Given the description of an element on the screen output the (x, y) to click on. 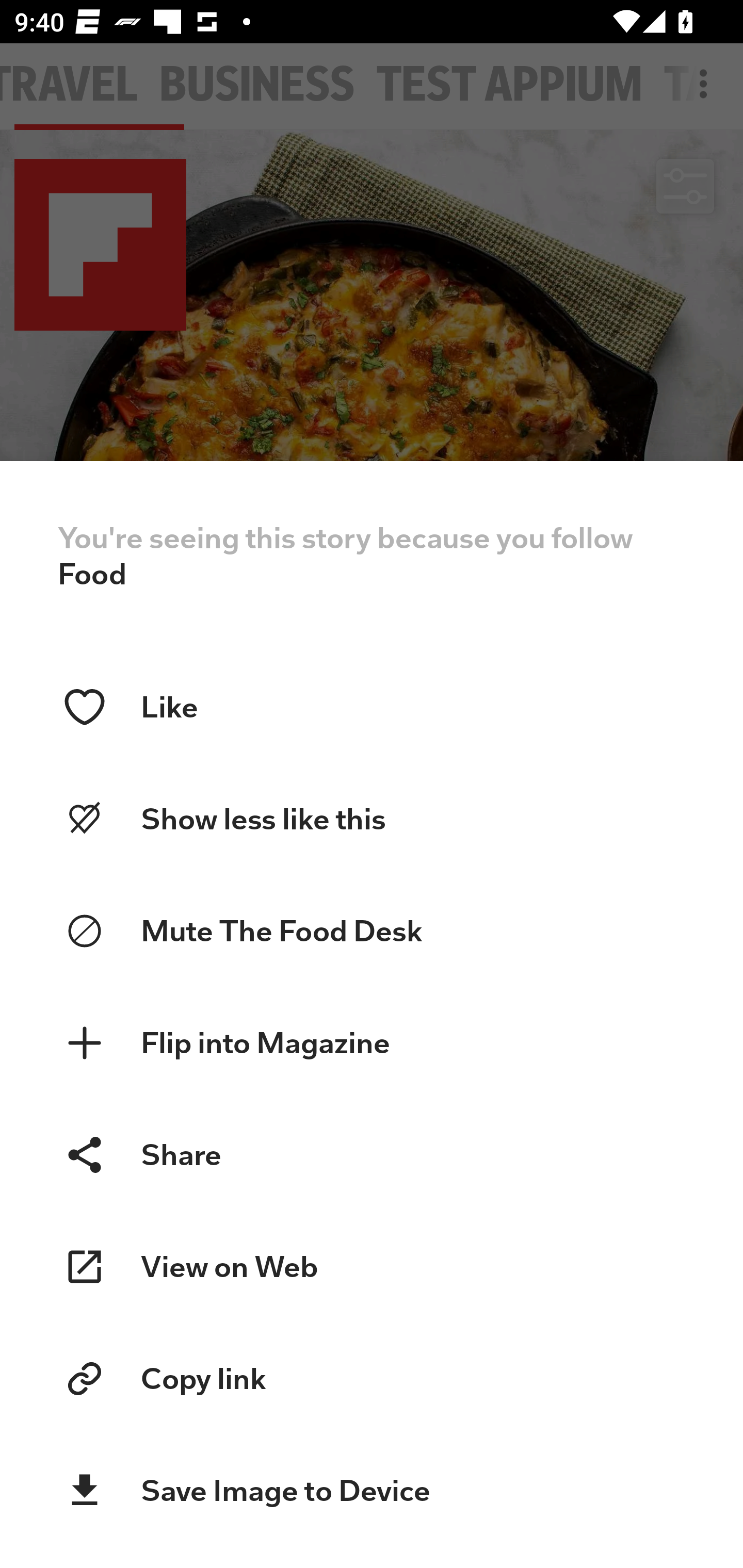
Like (371, 706)
Show less like this (371, 818)
Mute The Food Desk (371, 930)
Flip into Magazine (371, 1043)
Share (371, 1154)
View on Web (371, 1266)
Copy link (371, 1378)
Save Image to Device (371, 1490)
